Given the description of an element on the screen output the (x, y) to click on. 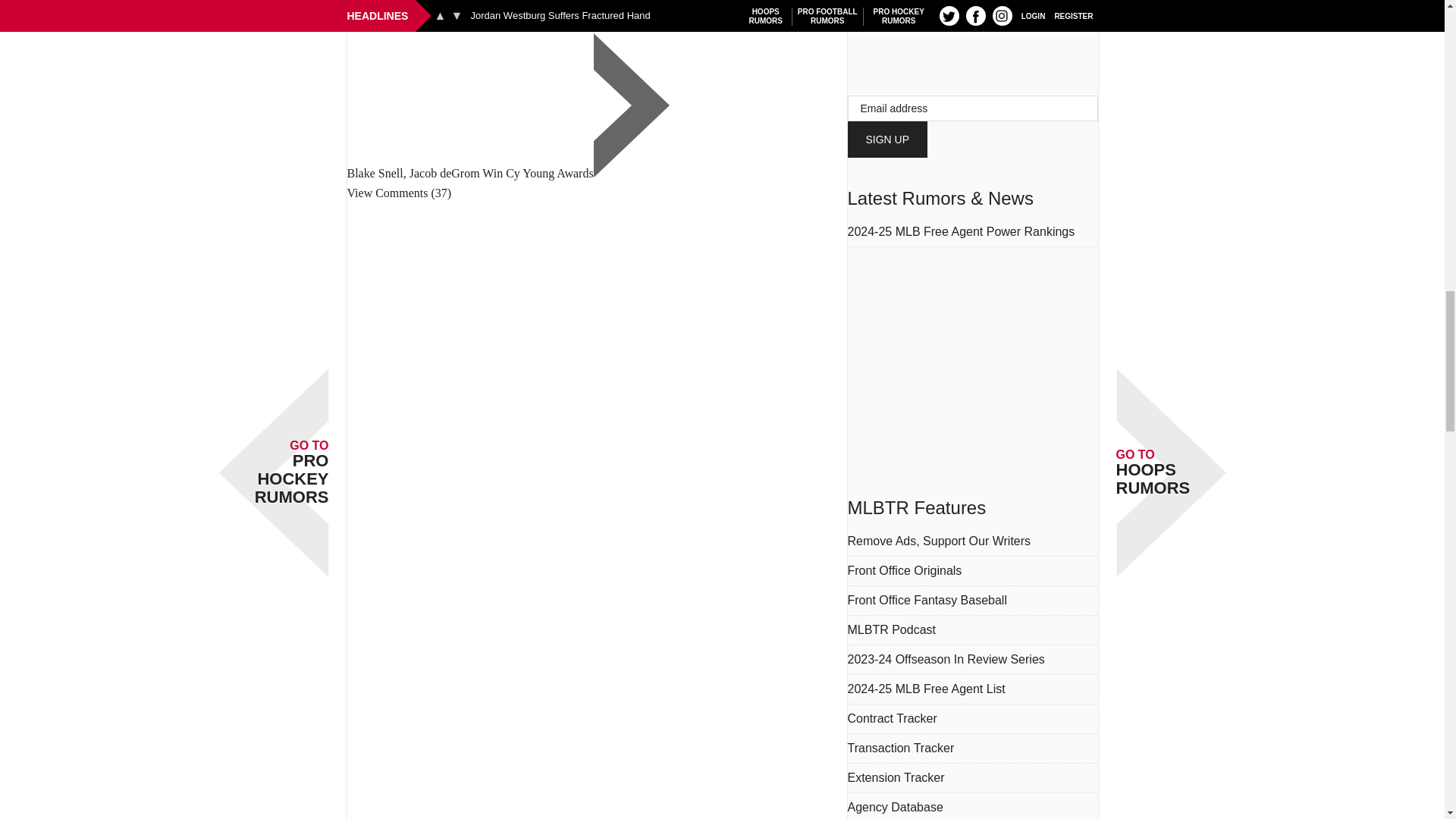
Sign Up (887, 139)
